Given the description of an element on the screen output the (x, y) to click on. 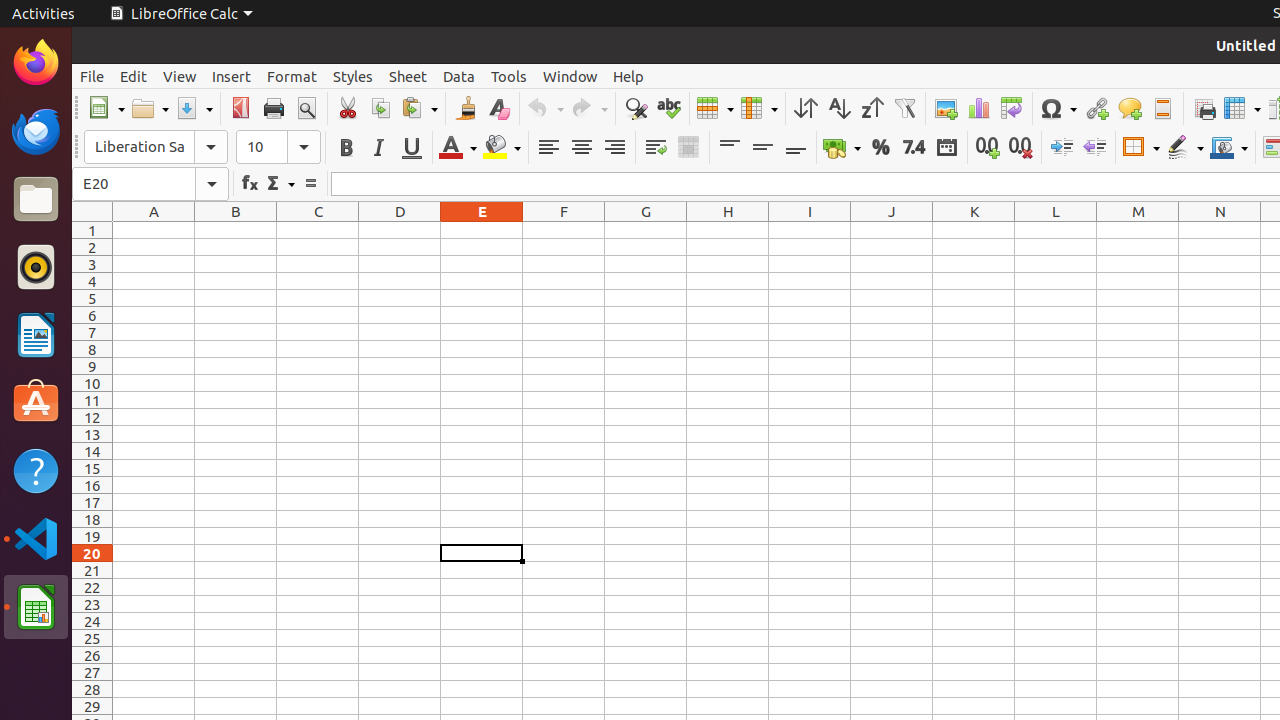
Spelling Element type: push-button (668, 108)
Open Element type: push-button (150, 108)
Thunderbird Mail Element type: push-button (36, 131)
H1 Element type: table-cell (728, 230)
Find & Replace Element type: toggle-button (635, 108)
